Given the description of an element on the screen output the (x, y) to click on. 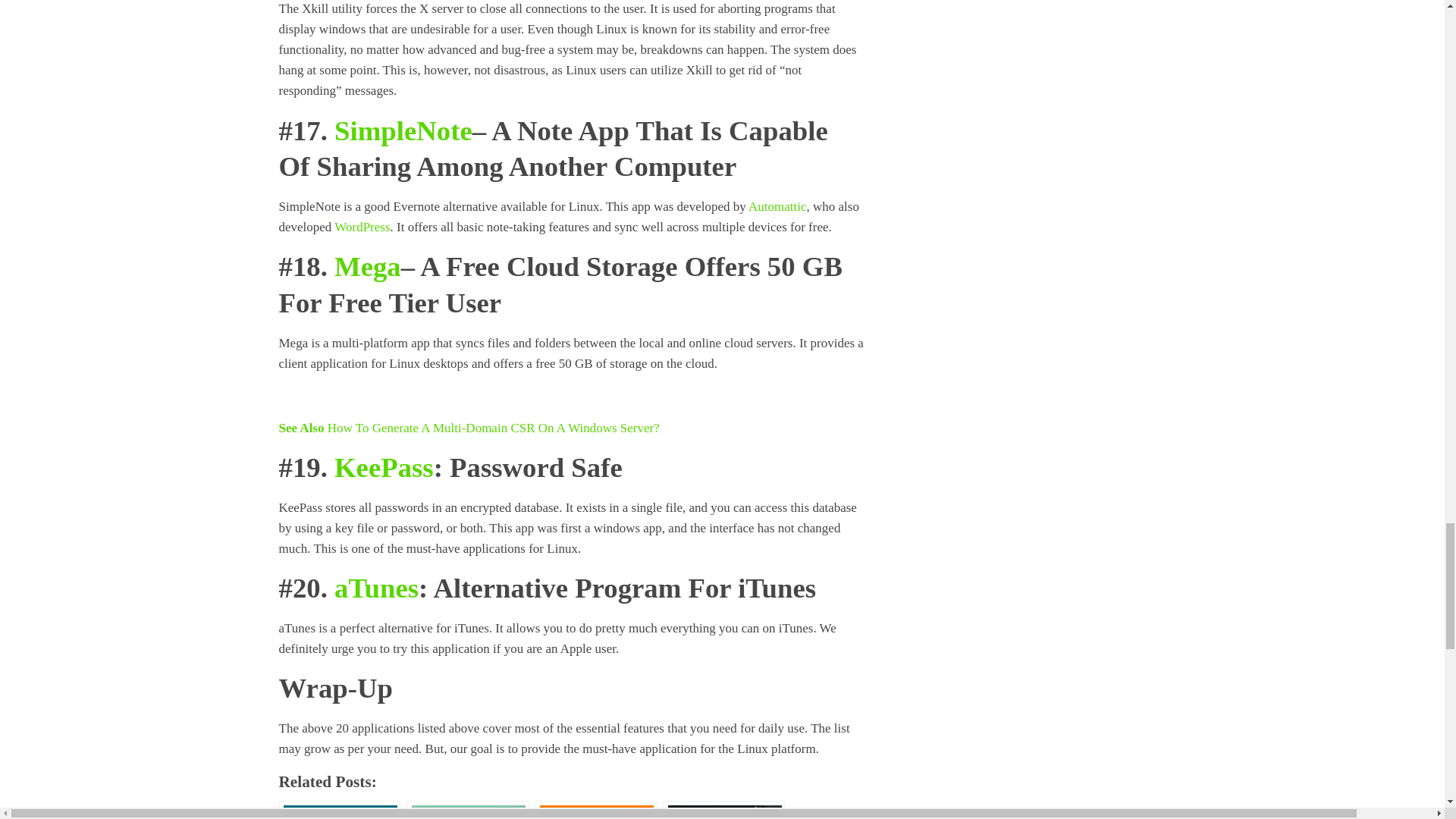
4 Free Drive Cloning Applications for Windows and Linux (339, 809)
